Given the description of an element on the screen output the (x, y) to click on. 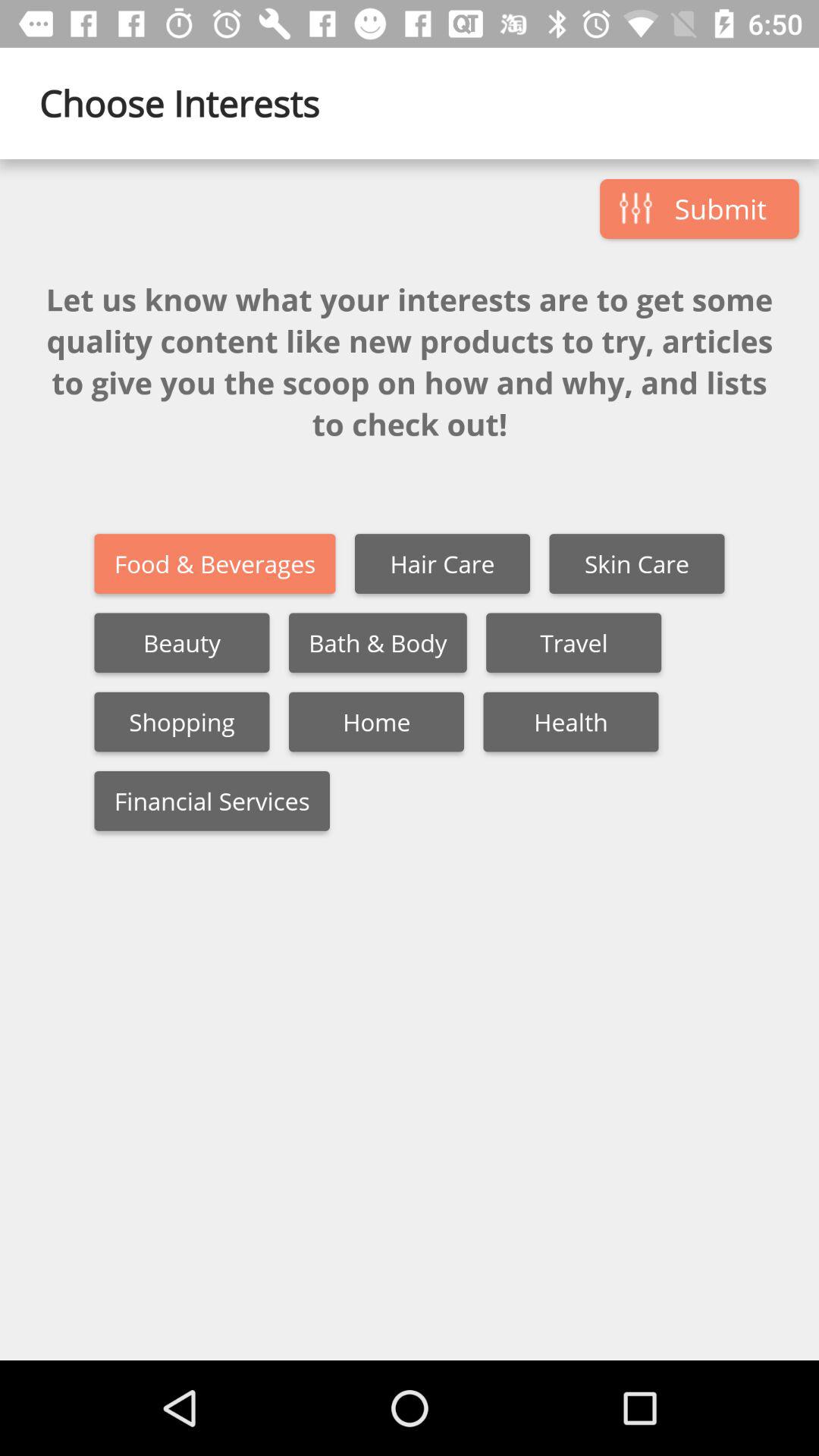
turn on icon above beauty icon (214, 563)
